Given the description of an element on the screen output the (x, y) to click on. 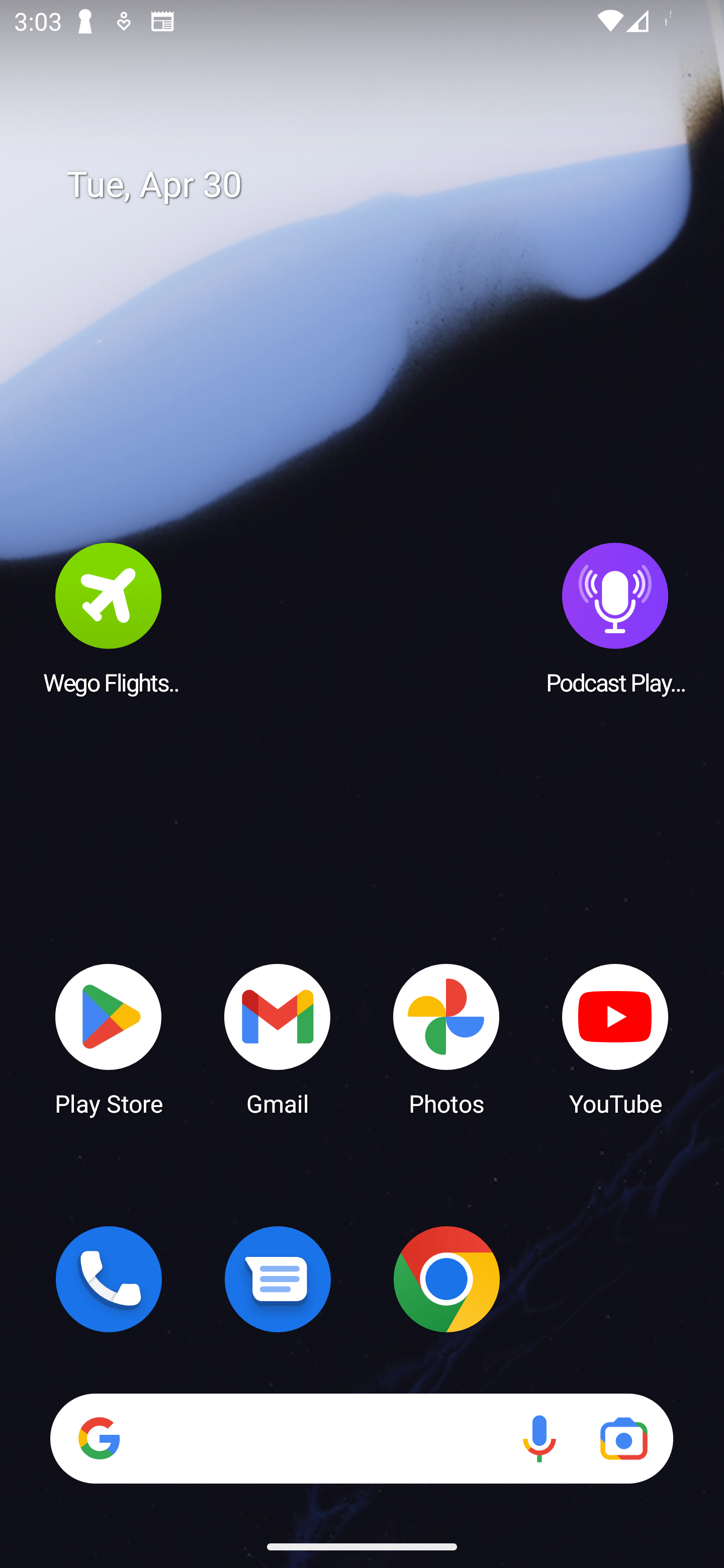
Tue, Apr 30 (375, 184)
Wego Flights & Hotels (108, 617)
Podcast Player (615, 617)
Play Store (108, 1038)
Gmail (277, 1038)
Photos (445, 1038)
YouTube (615, 1038)
Phone (108, 1279)
Messages (277, 1279)
Chrome (446, 1279)
Voice search (539, 1438)
Google Lens (623, 1438)
